Given the description of an element on the screen output the (x, y) to click on. 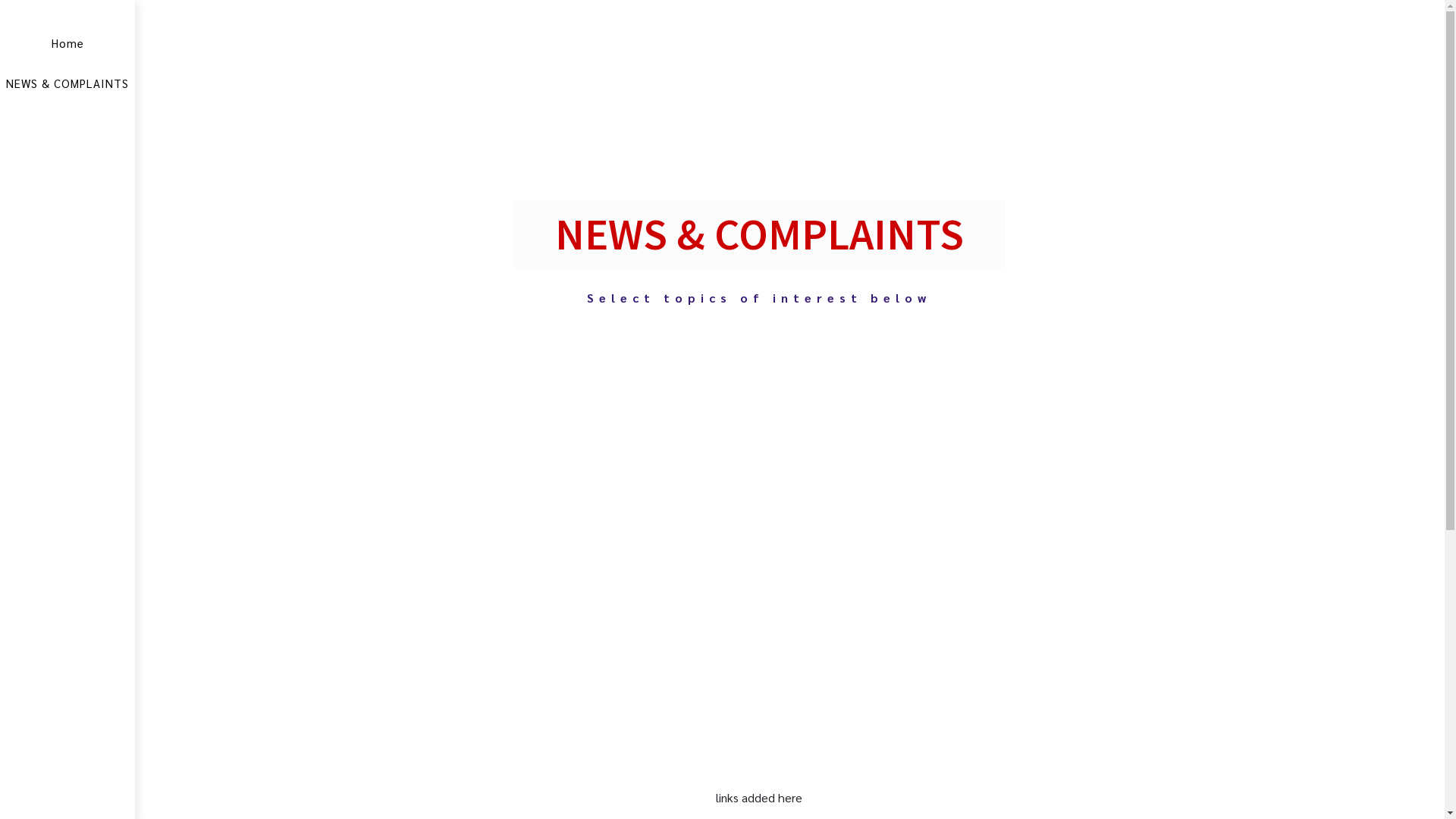
Home Element type: text (67, 43)
NEWS & COMPLAINTS Element type: text (67, 82)
